Given the description of an element on the screen output the (x, y) to click on. 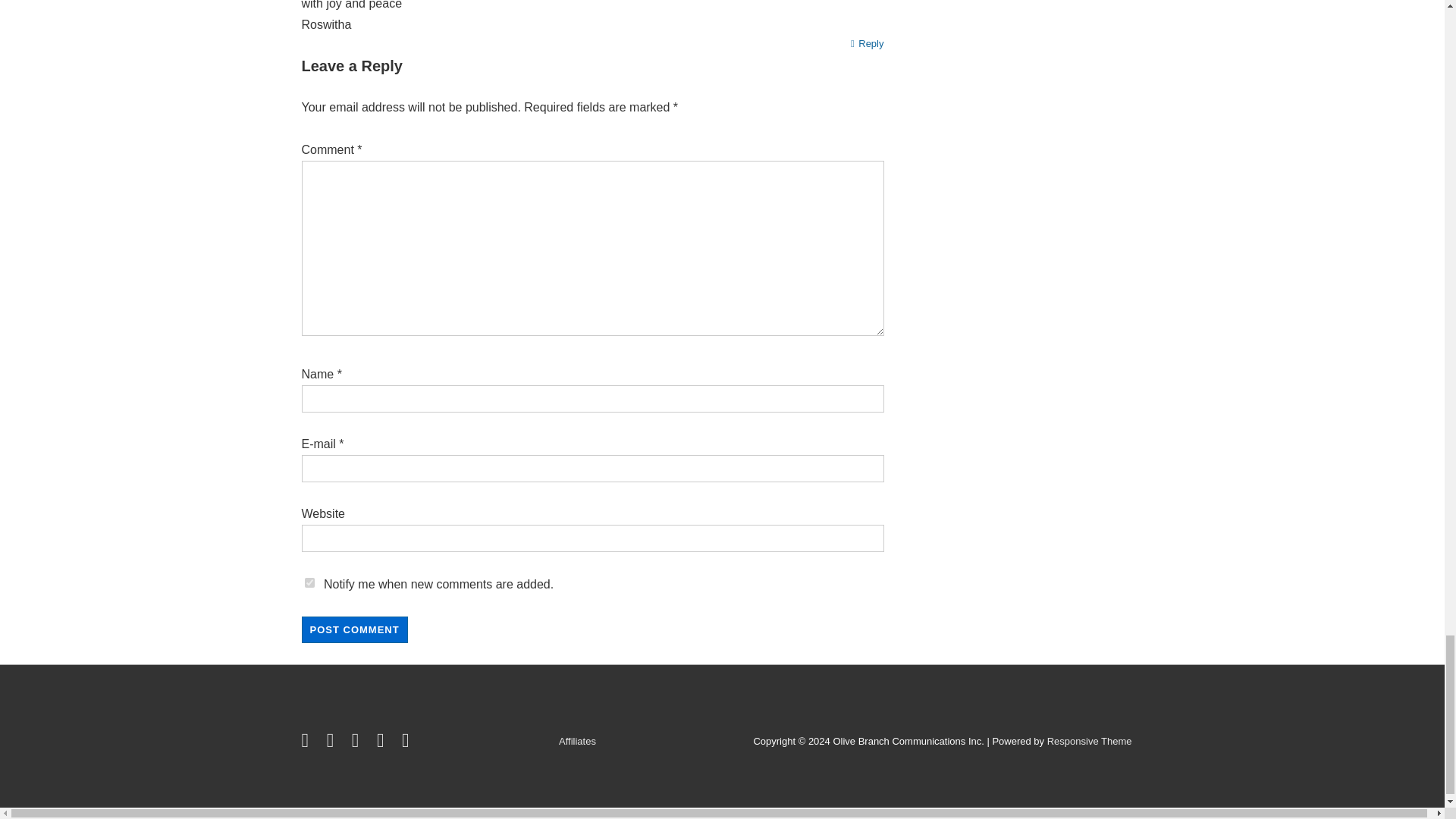
email (407, 743)
twitter (308, 743)
1 (309, 583)
youtube (358, 743)
facebook (333, 743)
Post Comment (354, 629)
instagram (383, 743)
